Given the description of an element on the screen output the (x, y) to click on. 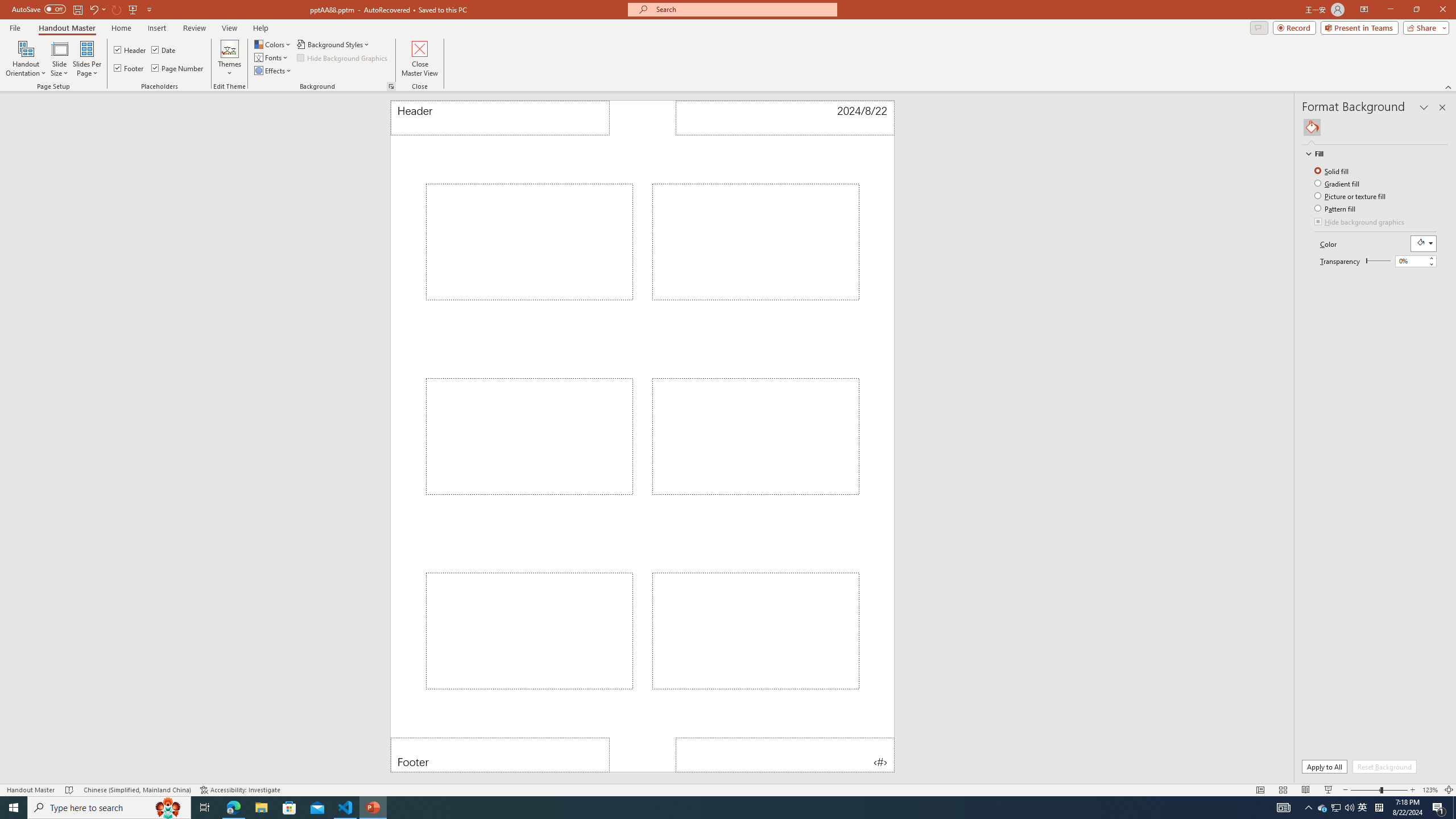
Footer (129, 67)
Date (164, 49)
Footer (500, 754)
Transparency (1415, 260)
Fill Color RGB(255, 255, 255) (1423, 243)
